Given the description of an element on the screen output the (x, y) to click on. 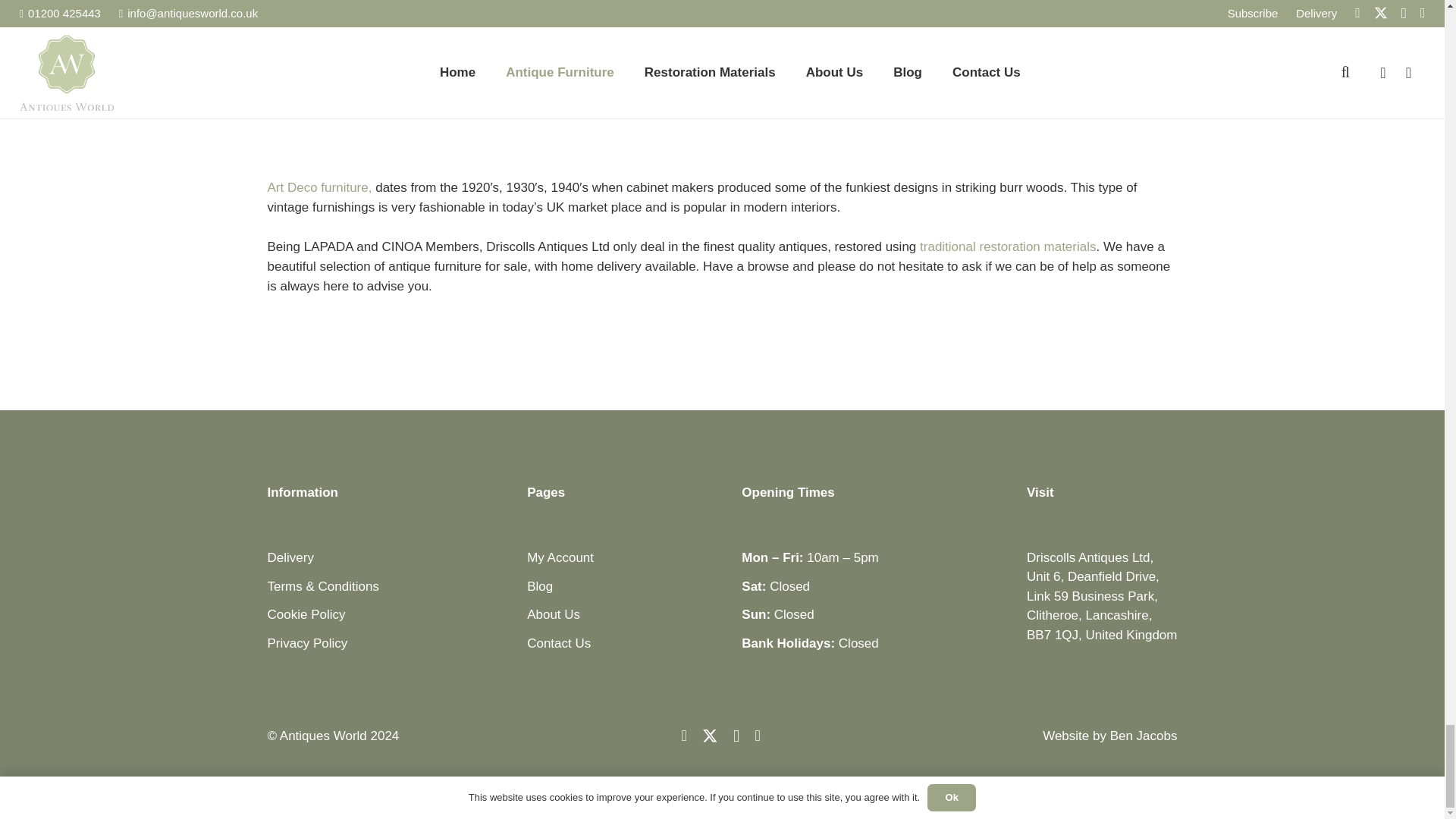
Facebook (683, 735)
Twitter (709, 736)
Instagram (736, 736)
